Given the description of an element on the screen output the (x, y) to click on. 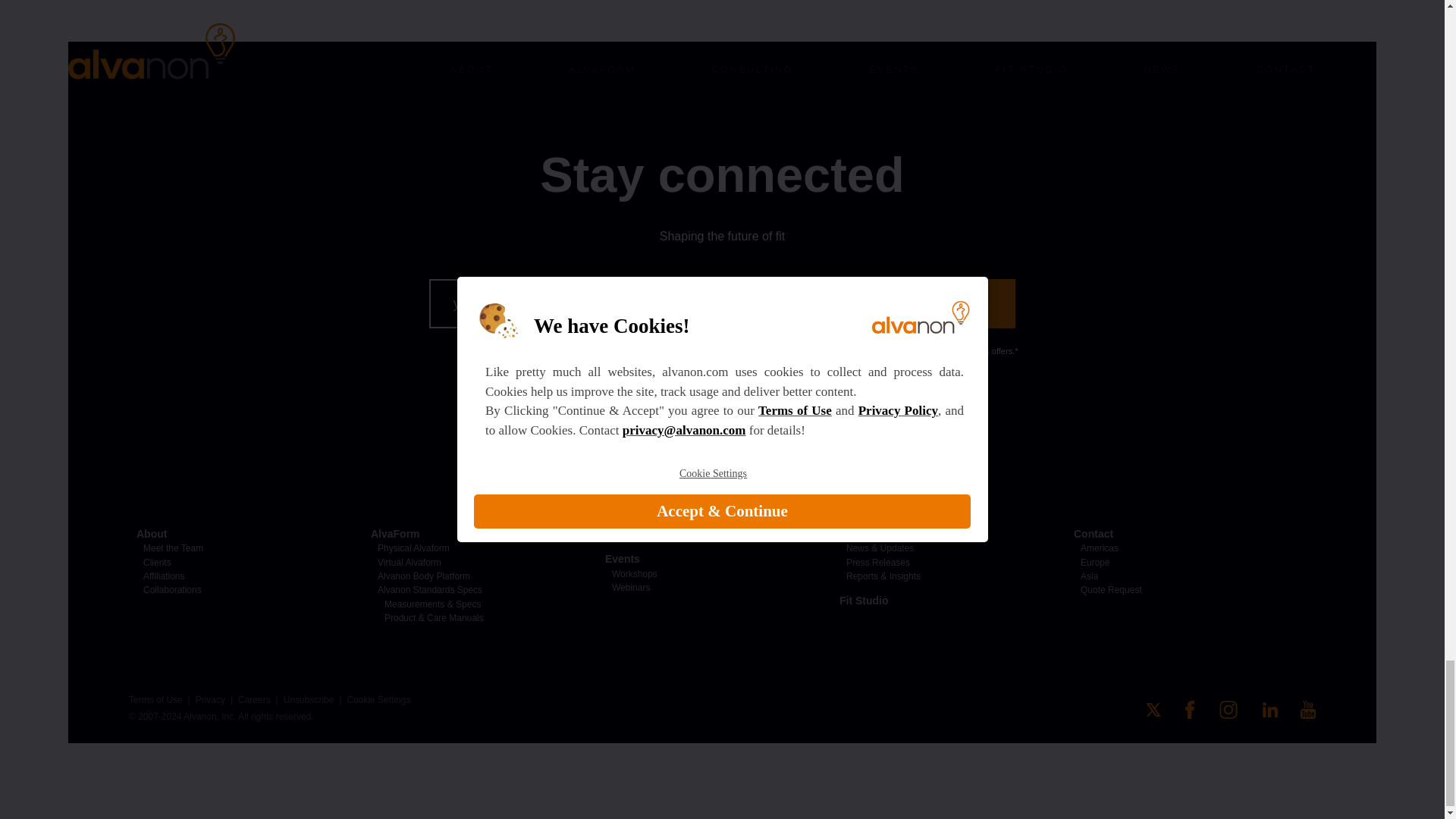
Virtual Alvaform (409, 562)
Meet the Team (172, 547)
Affiliations (163, 575)
About (151, 533)
Quote Request (1187, 589)
Clients (156, 562)
Privacy Policy (664, 350)
AlvaForm (395, 533)
Physical Alvaform (413, 547)
Americas (1187, 547)
Terms of Use (595, 350)
Asia (1187, 575)
SUBSCRIBE (945, 303)
Collaborations (172, 589)
Alvanon Body Platform (423, 575)
